Given the description of an element on the screen output the (x, y) to click on. 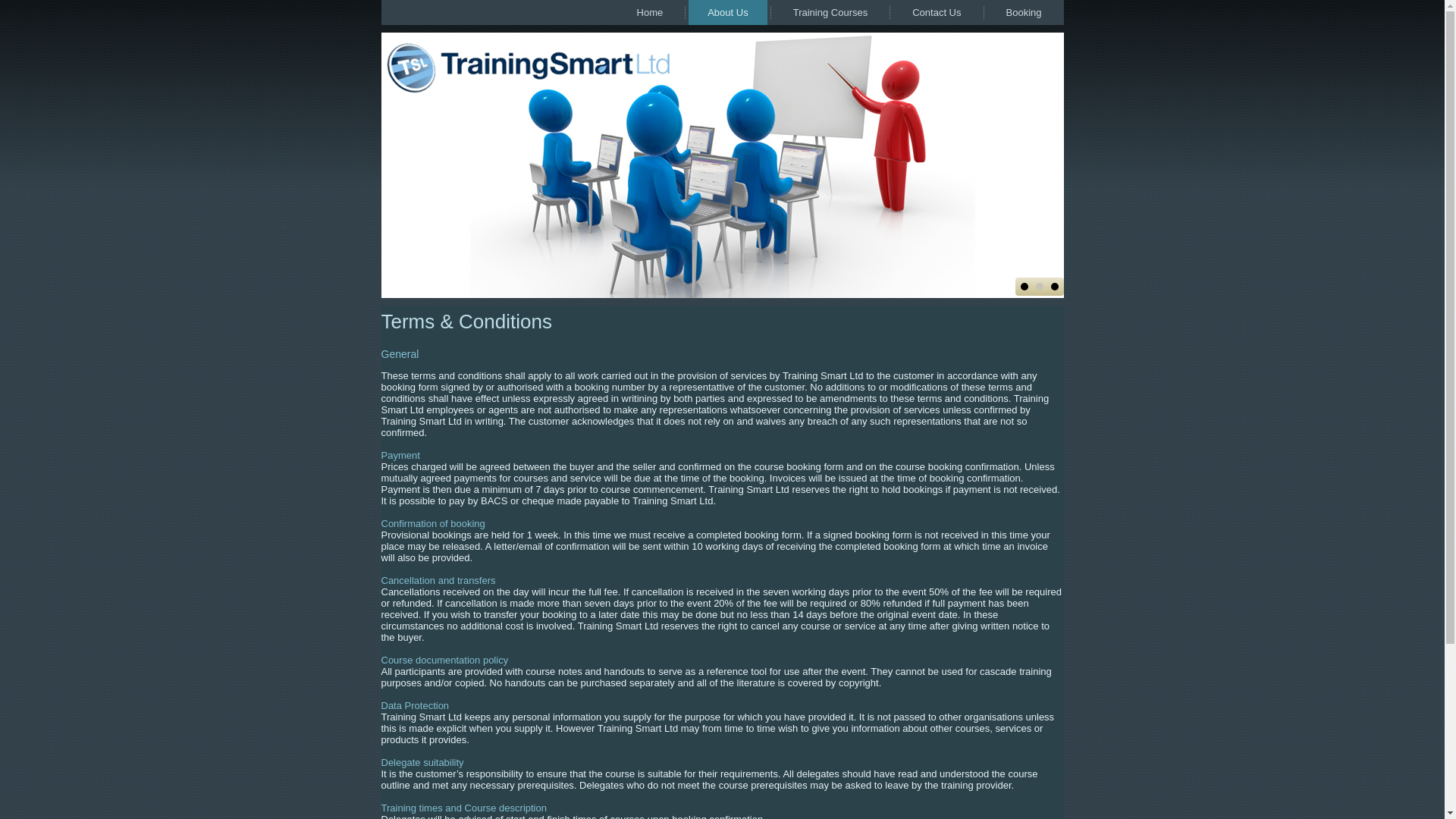
Contact Us (936, 12)
Contact Us (936, 12)
About Us (727, 12)
Training Courses (830, 12)
Home (649, 12)
Training Courses (830, 12)
Booking (1024, 12)
About Us (727, 12)
Booking (1024, 12)
Home (649, 12)
